Given the description of an element on the screen output the (x, y) to click on. 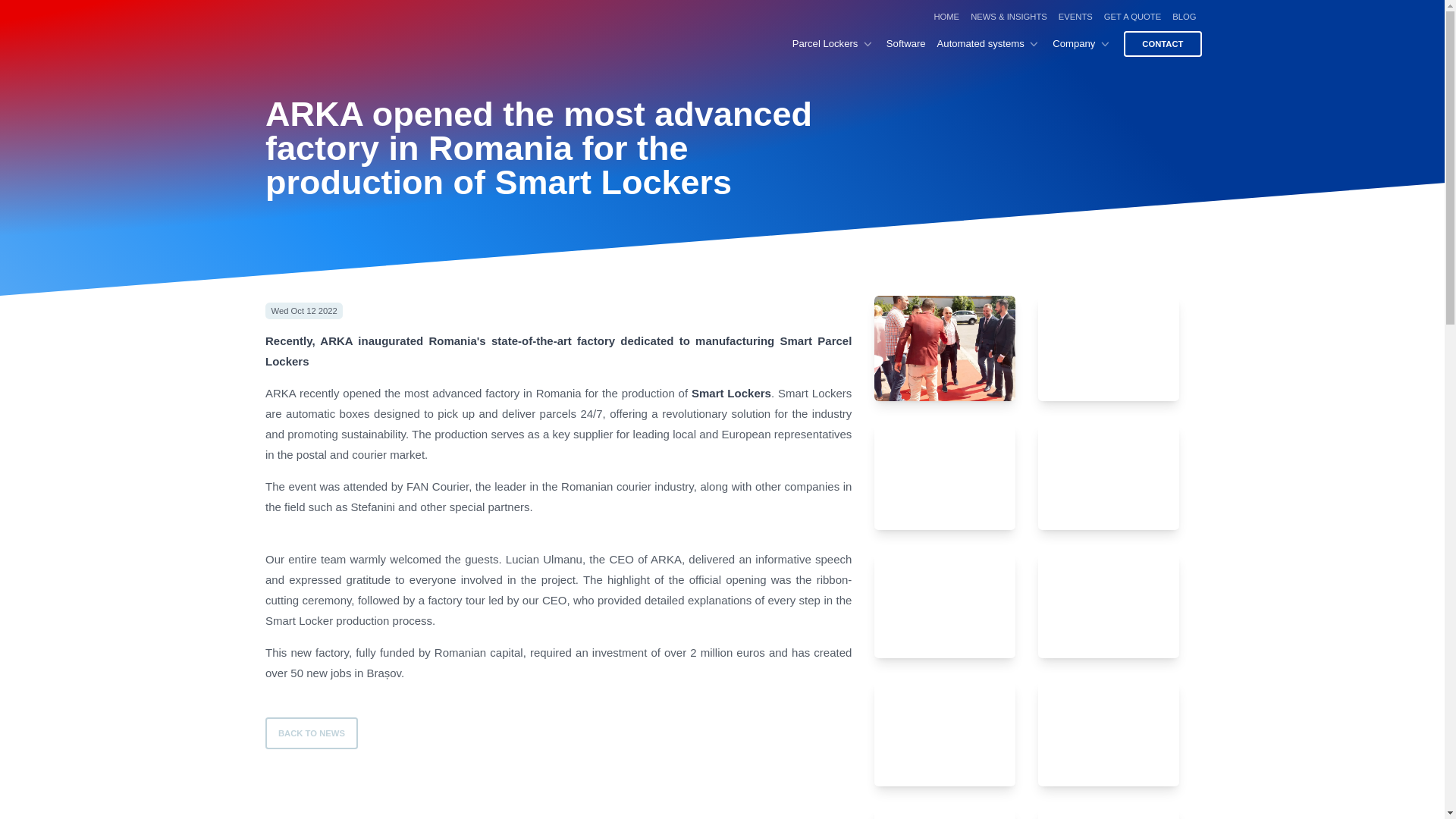
Parcel Lockers (833, 43)
GET A QUOTE (1131, 16)
Company (1082, 43)
BLOG (1184, 16)
EVENTS (1074, 16)
BACK TO NEWS (311, 733)
Automated systems (989, 43)
HOME (946, 16)
CONTACT (1163, 43)
Software (911, 43)
